Given the description of an element on the screen output the (x, y) to click on. 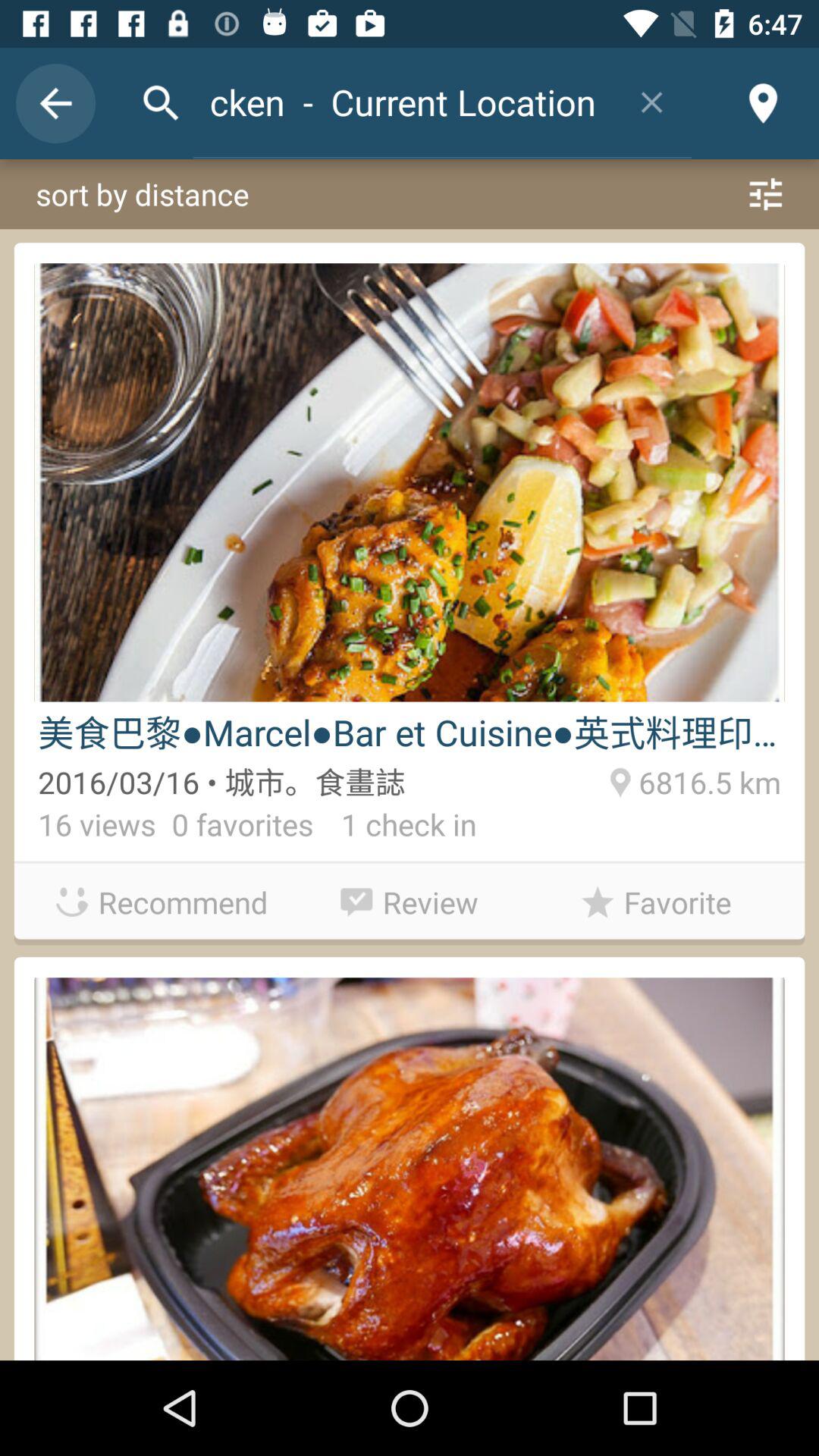
open the icon next to favorite app (409, 898)
